Given the description of an element on the screen output the (x, y) to click on. 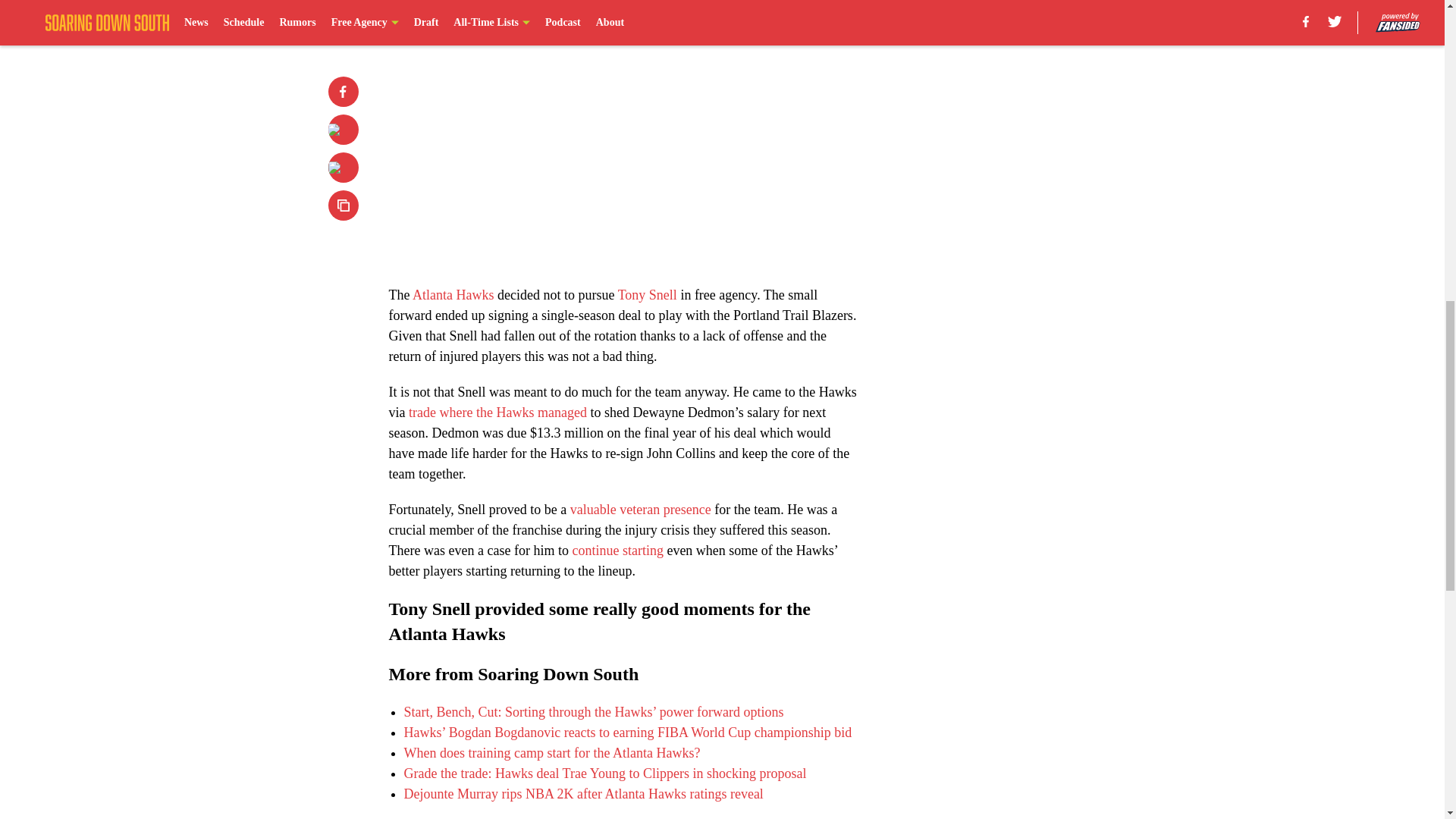
continue starting (617, 549)
Tony Snell (647, 294)
valuable veteran presence (640, 509)
trade where the Hawks managed (497, 412)
Atlanta Hawks (452, 294)
When does training camp start for the Atlanta Hawks? (551, 752)
